Given the description of an element on the screen output the (x, y) to click on. 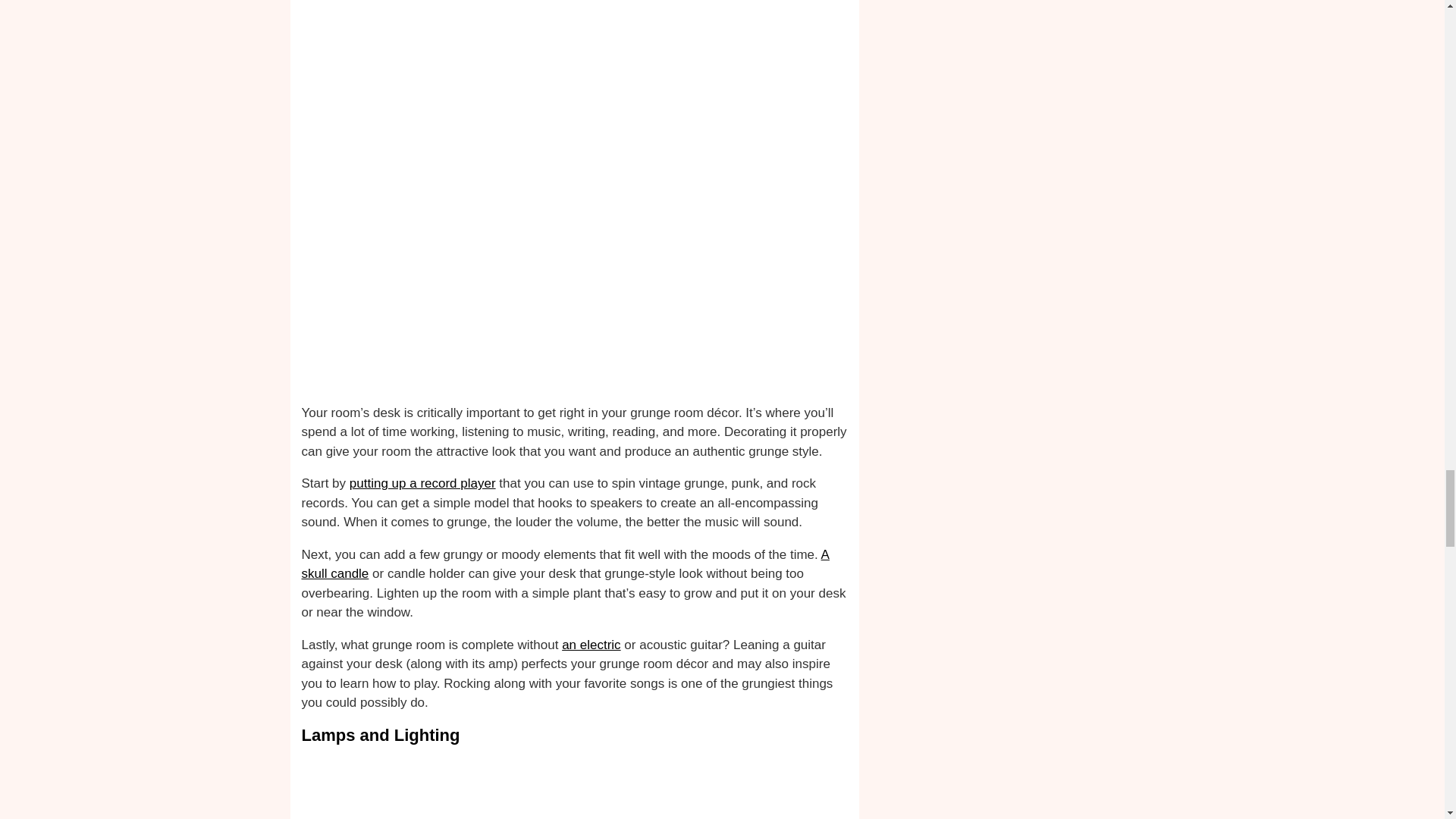
putting up a record player (422, 482)
an electric (591, 644)
A skull candle (565, 564)
